Given the description of an element on the screen output the (x, y) to click on. 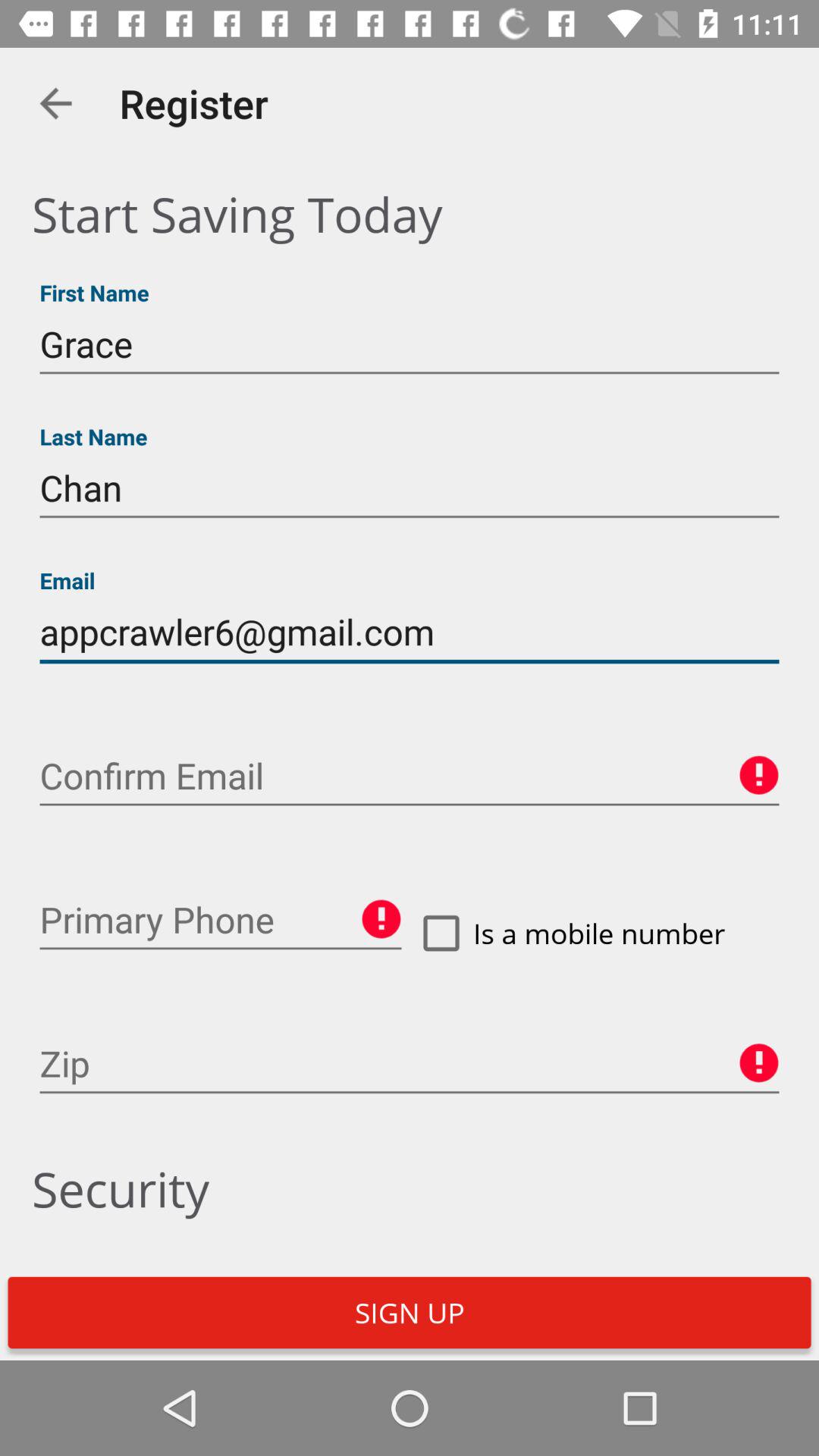
address page (409, 1064)
